Given the description of an element on the screen output the (x, y) to click on. 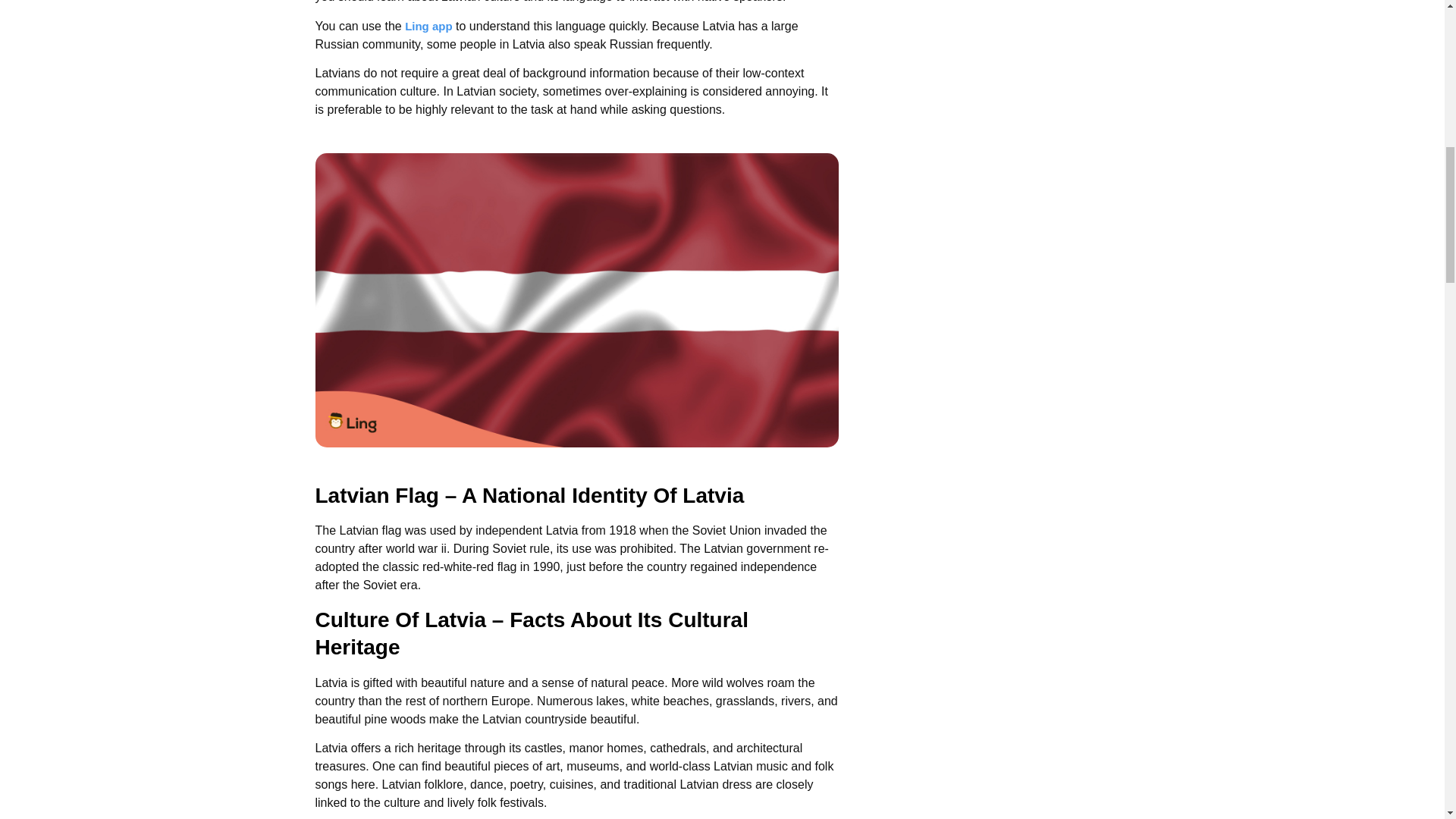
Ling app (428, 25)
